Given the description of an element on the screen output the (x, y) to click on. 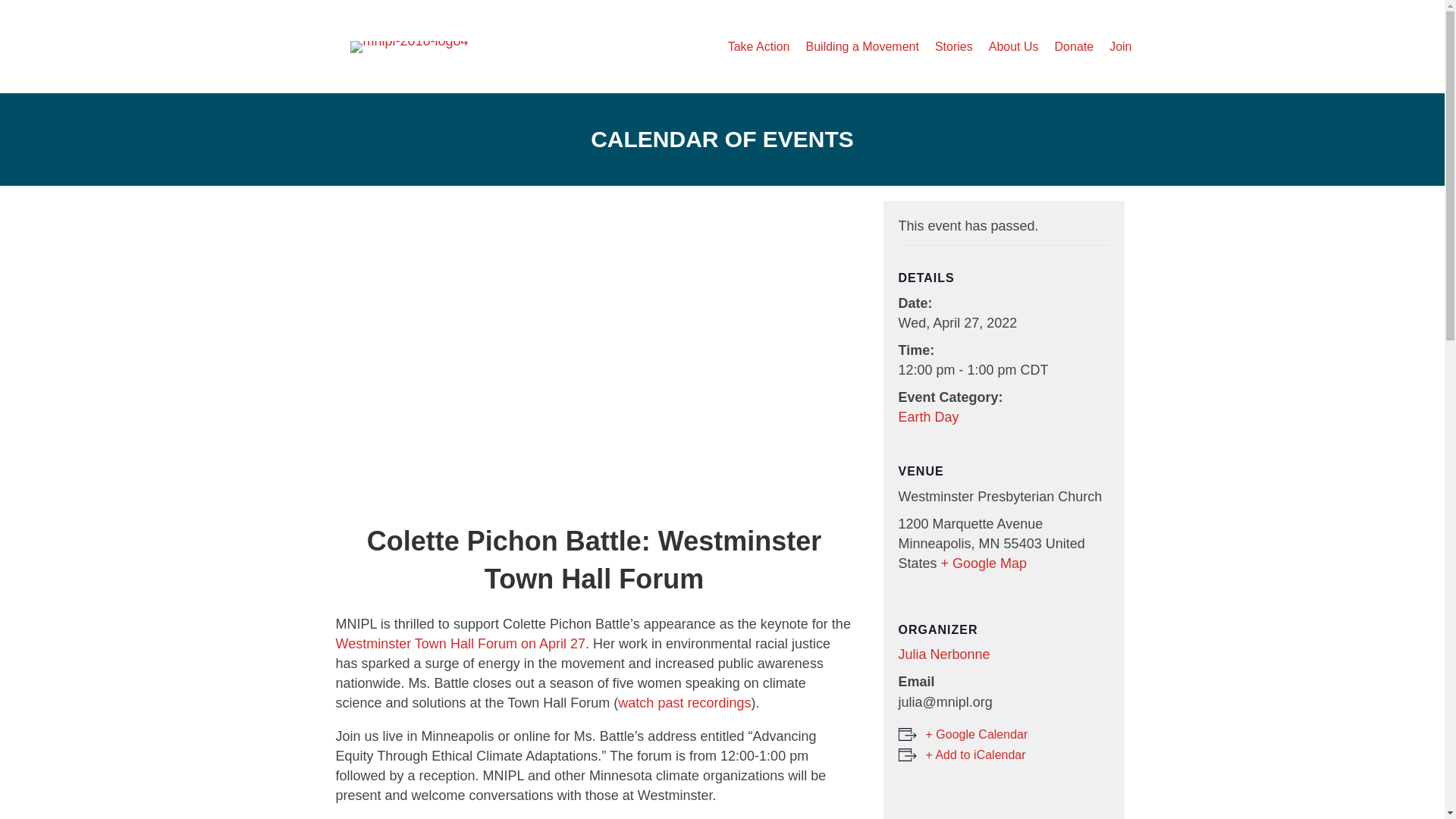
Add to Google Calendar (962, 734)
mnipl-2016-logo4 (408, 46)
Stories (953, 46)
Julia Nerbonne (944, 654)
CALENDAR OF EVENTS (722, 138)
Take Action (758, 46)
Building a Movement (861, 46)
Minnesota (989, 543)
2022-04-27 (957, 322)
